Given the description of an element on the screen output the (x, y) to click on. 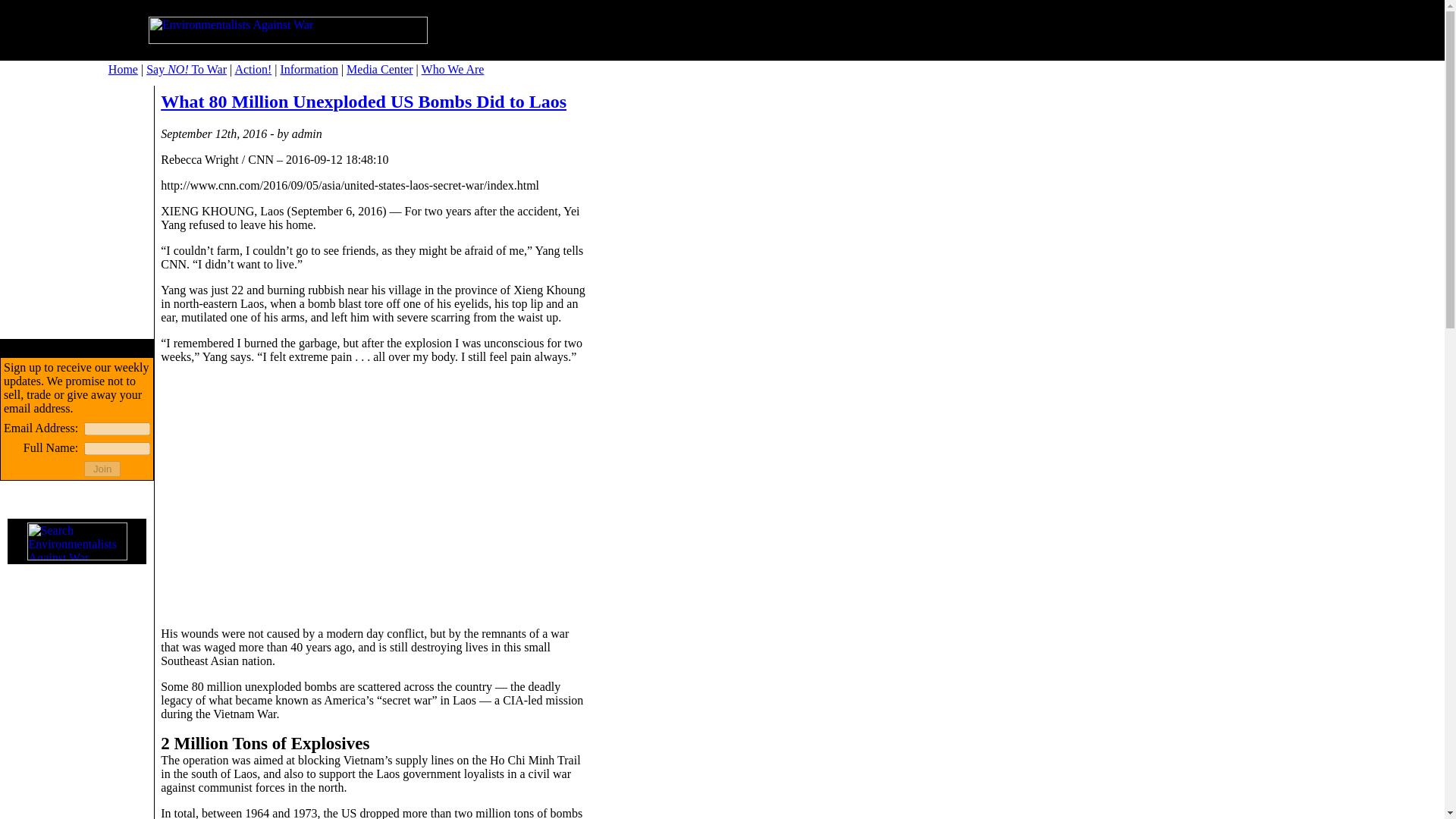
 Join  (102, 468)
 Join  (102, 468)
Media Center (379, 69)
Who We Are (453, 69)
Home (122, 69)
Action! (252, 69)
Information (308, 69)
What 80 Million Unexploded US Bombs Did to Laos (363, 101)
Say NO! To War (187, 69)
